Given the description of an element on the screen output the (x, y) to click on. 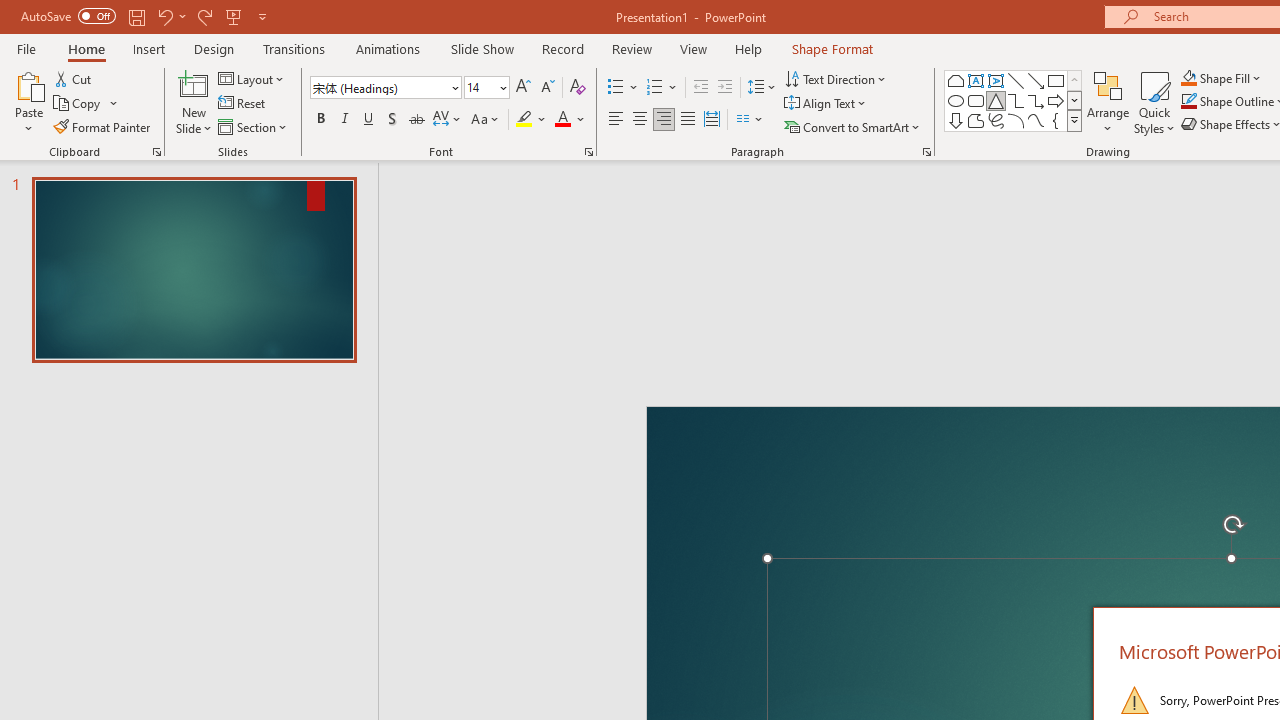
Rectangle: Top Corners Snipped (955, 80)
